Given the description of an element on the screen output the (x, y) to click on. 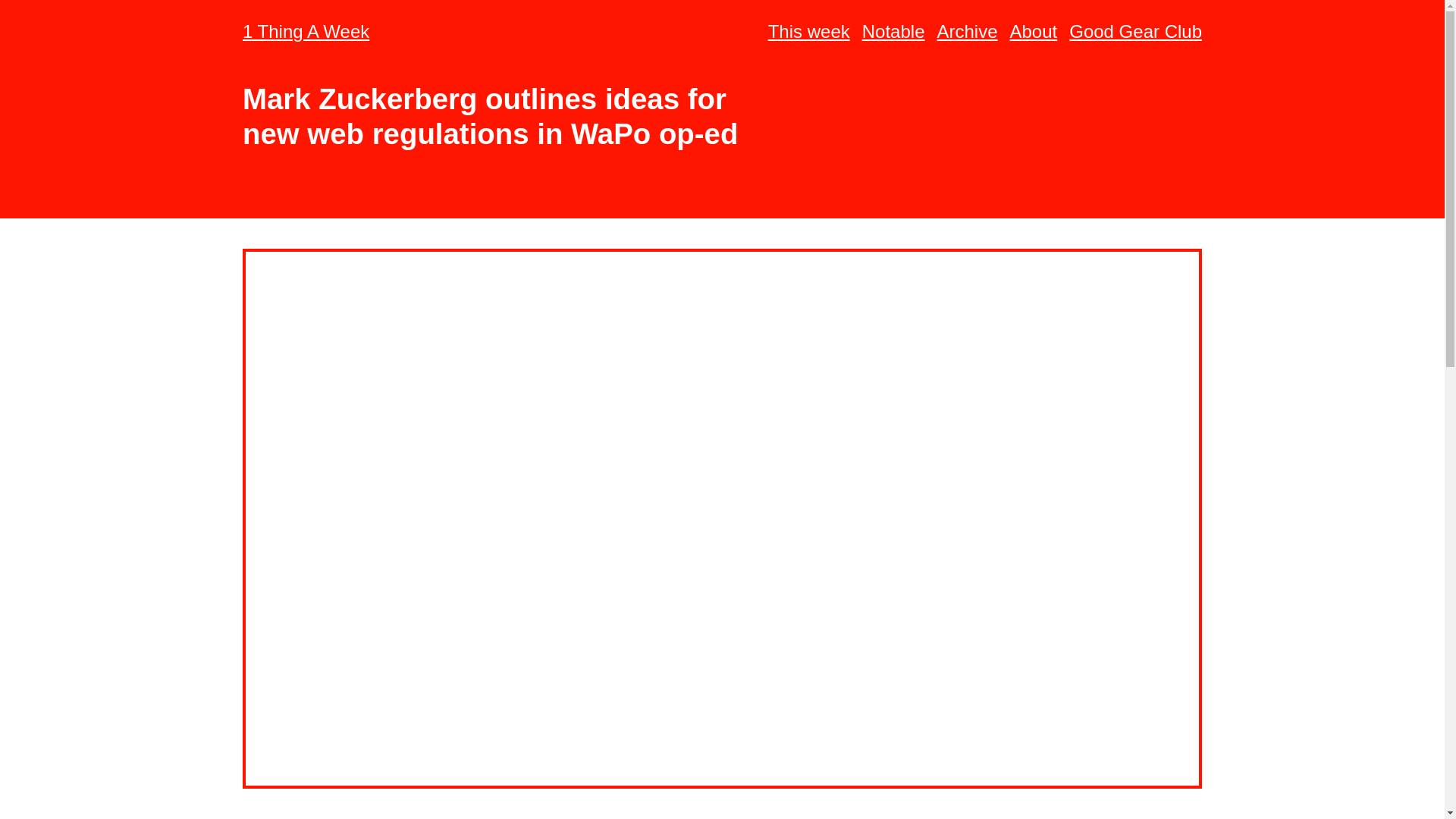
1 Thing A Week (306, 31)
About (1034, 31)
This week (809, 31)
Good Gear Club (1135, 31)
Archive (966, 31)
Notable (892, 31)
